Given the description of an element on the screen output the (x, y) to click on. 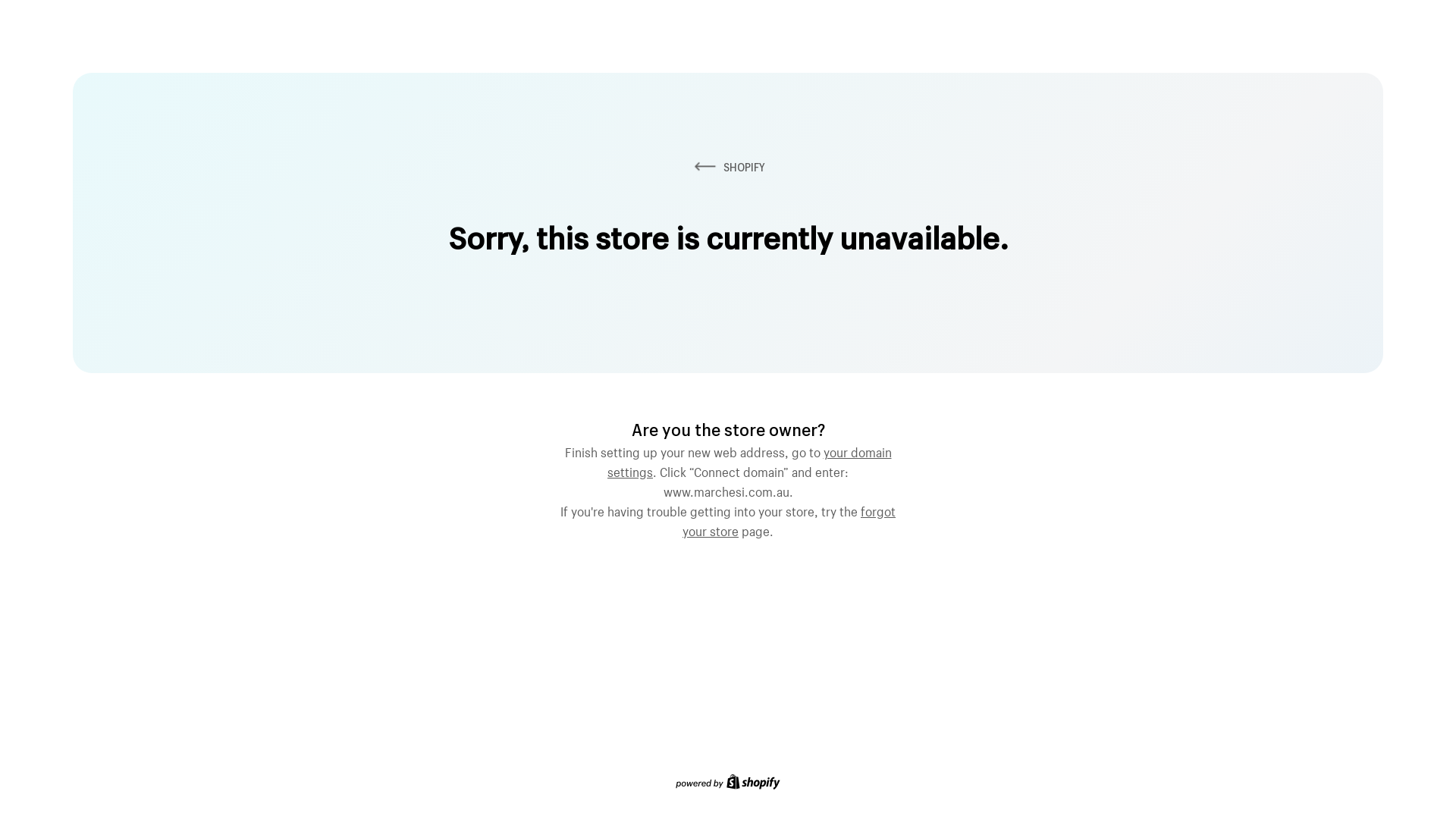
forgot your store Element type: text (788, 519)
your domain settings Element type: text (749, 460)
SHOPIFY Element type: text (727, 167)
